Given the description of an element on the screen output the (x, y) to click on. 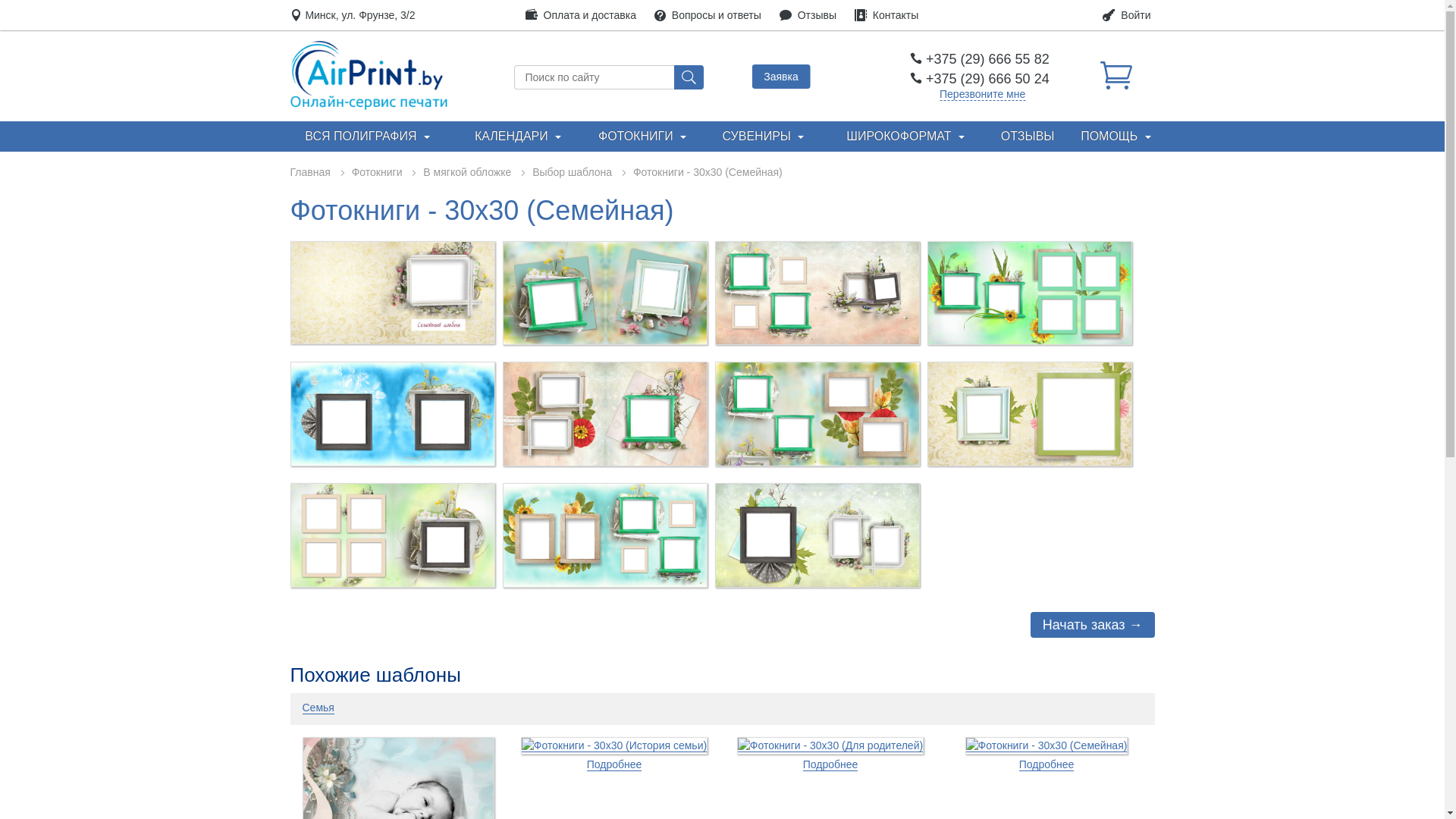
+375 (29) 666 50 24 Element type: text (979, 78)
Airprint.by Element type: hover (367, 74)
+375 (29) 666 55 82 Element type: text (979, 58)
